Given the description of an element on the screen output the (x, y) to click on. 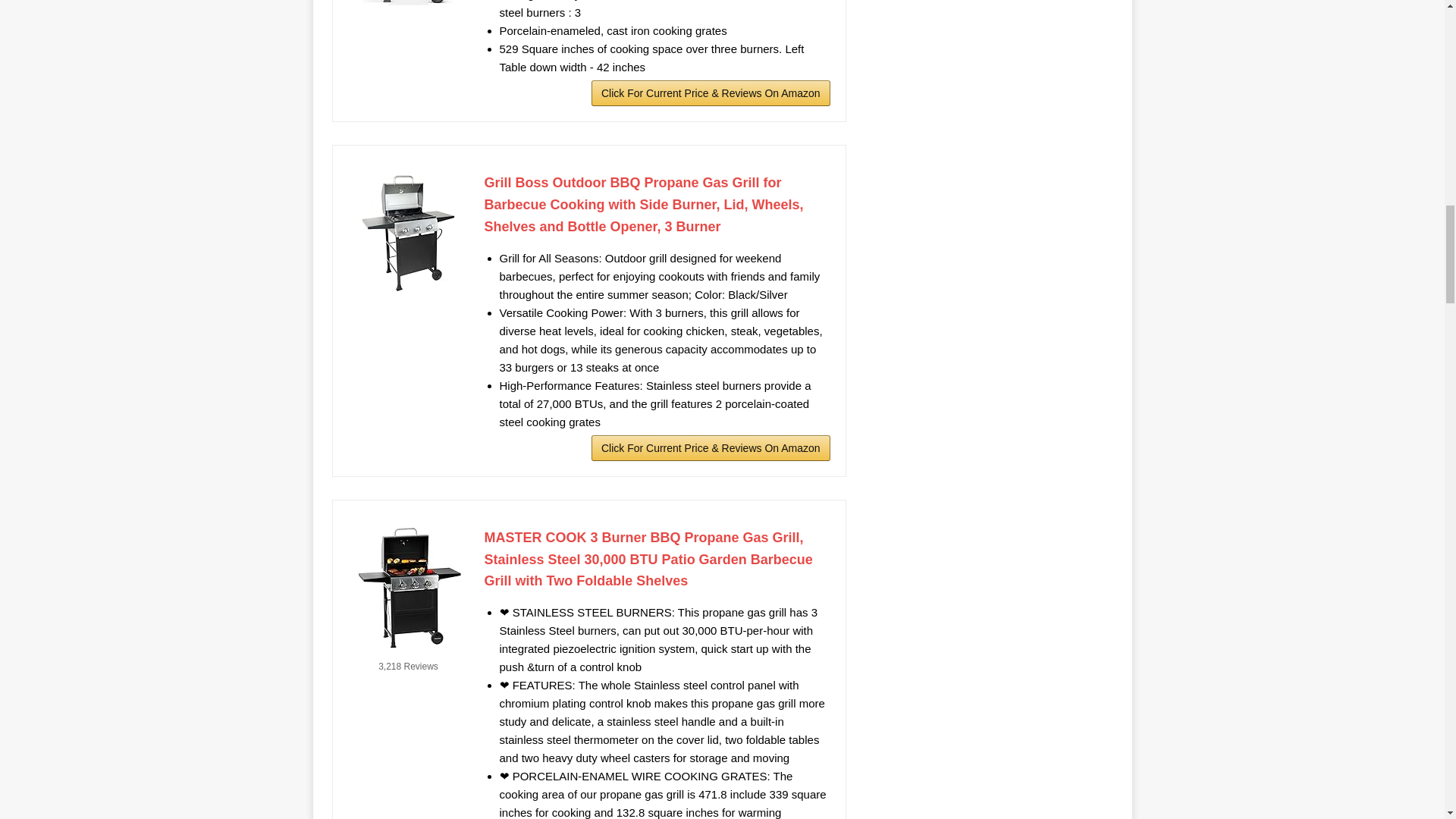
Weber Spirit II E-310 3-Burner Liquid Propane Grill, Black (407, 7)
